Given the description of an element on the screen output the (x, y) to click on. 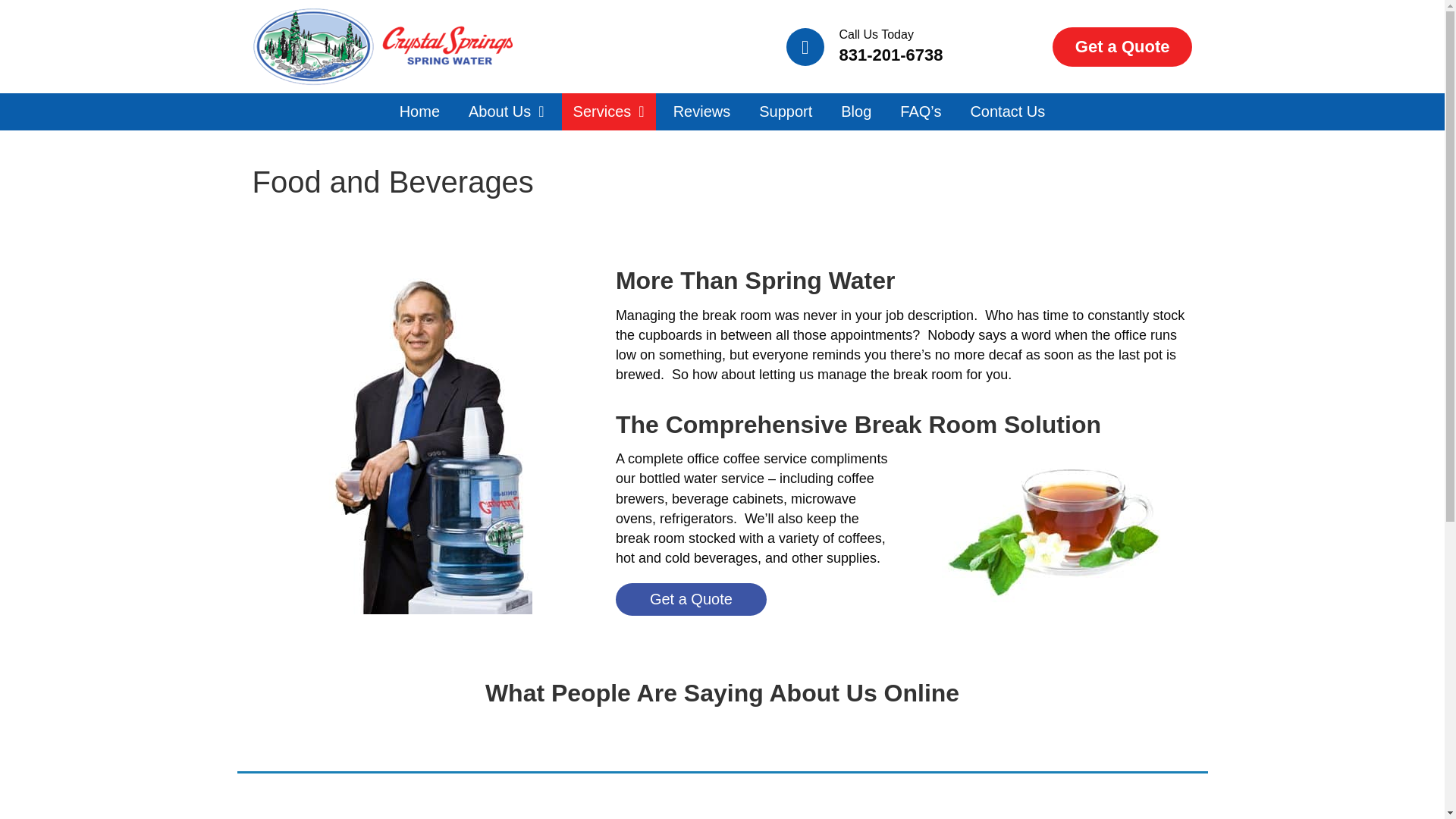
Get a Quote (1122, 46)
crystal-spring-logo (381, 46)
Contact Us (1007, 111)
Blog (855, 111)
Home (419, 111)
Support (786, 111)
Reviews (702, 111)
Get a Quote (740, 594)
Services (609, 111)
About Us (506, 111)
Get a Quote (691, 599)
Coffee-And-Tea-Services1 (1055, 531)
